Given the description of an element on the screen output the (x, y) to click on. 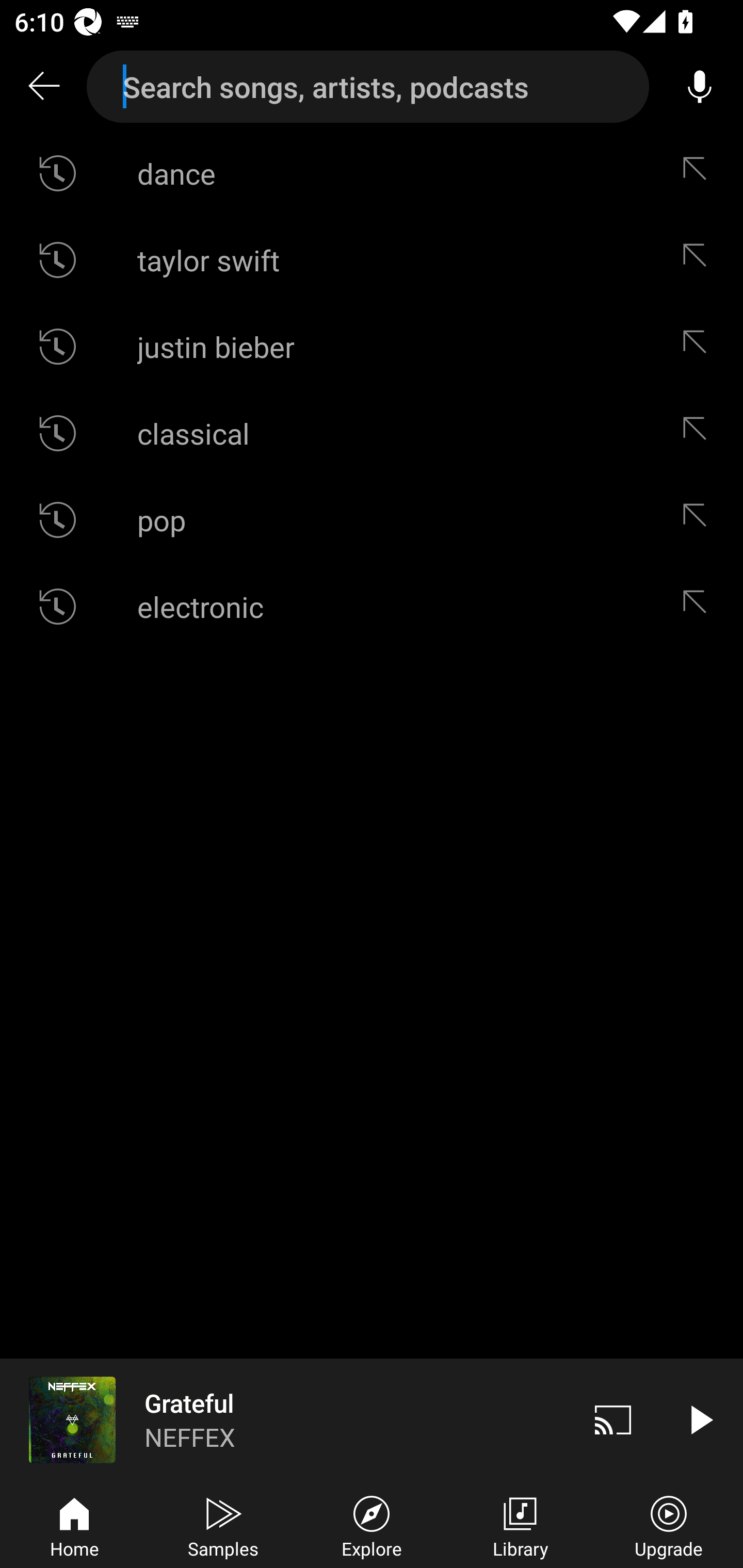
Search back (43, 86)
Search songs, artists, podcasts (367, 86)
Voice search (699, 86)
dance Edit suggestion dance (371, 173)
Edit suggestion dance (699, 173)
taylor swift Edit suggestion taylor swift (371, 259)
Edit suggestion taylor swift (699, 259)
justin bieber Edit suggestion justin bieber (371, 346)
Edit suggestion justin bieber (699, 346)
classical Edit suggestion classical (371, 433)
Edit suggestion classical (699, 433)
pop Edit suggestion pop (371, 519)
Edit suggestion pop (699, 519)
electronic Edit suggestion electronic (371, 605)
Edit suggestion electronic (699, 605)
Grateful NEFFEX (284, 1419)
Cast. Disconnected (612, 1419)
Play video (699, 1419)
Home (74, 1524)
Samples (222, 1524)
Explore (371, 1524)
Library (519, 1524)
Upgrade (668, 1524)
